Given the description of an element on the screen output the (x, y) to click on. 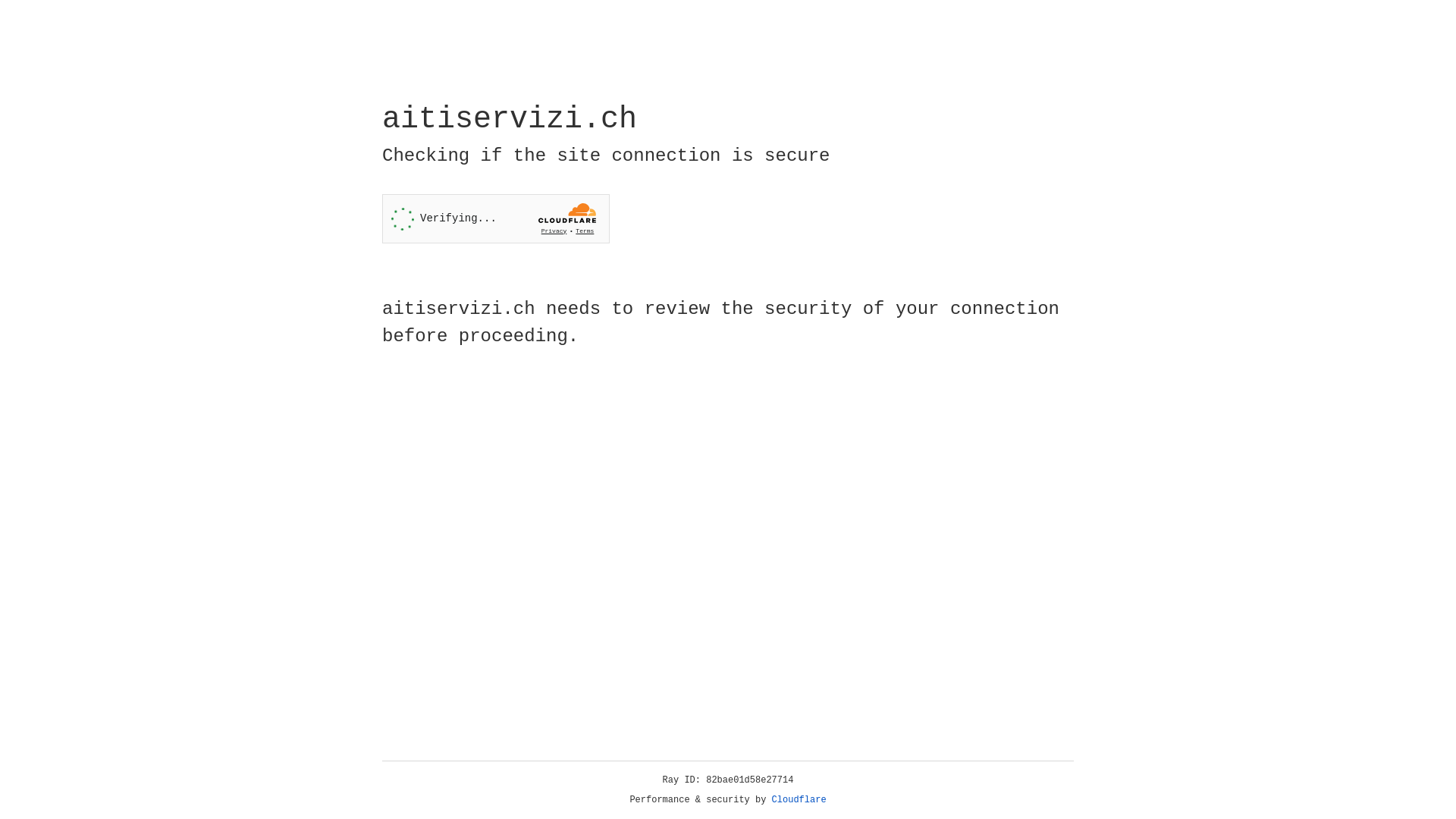
Cloudflare Element type: text (798, 799)
